Given the description of an element on the screen output the (x, y) to click on. 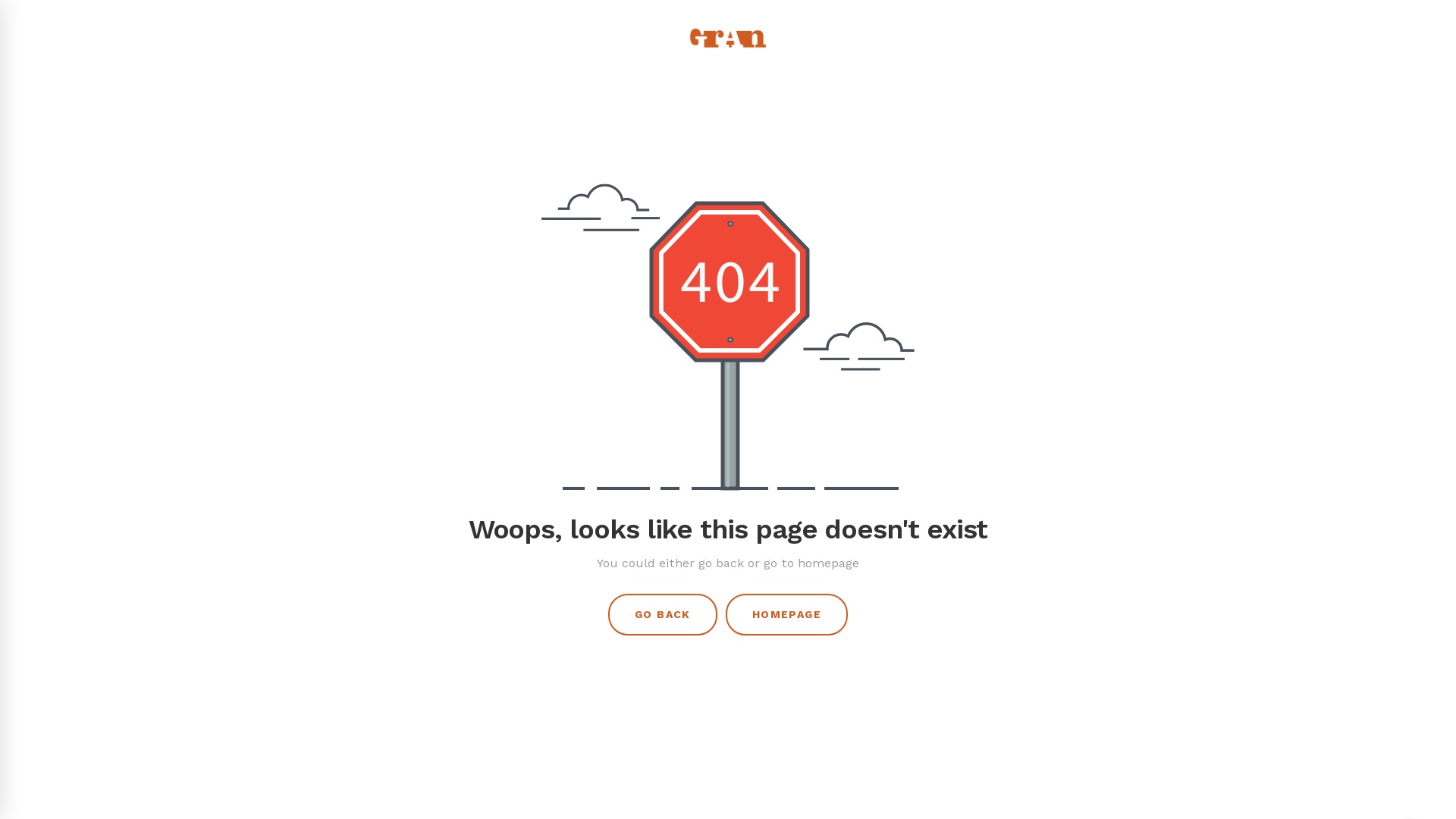
HOMEPAGE Element type: text (786, 614)
GO BACK Element type: text (662, 614)
